Given the description of an element on the screen output the (x, y) to click on. 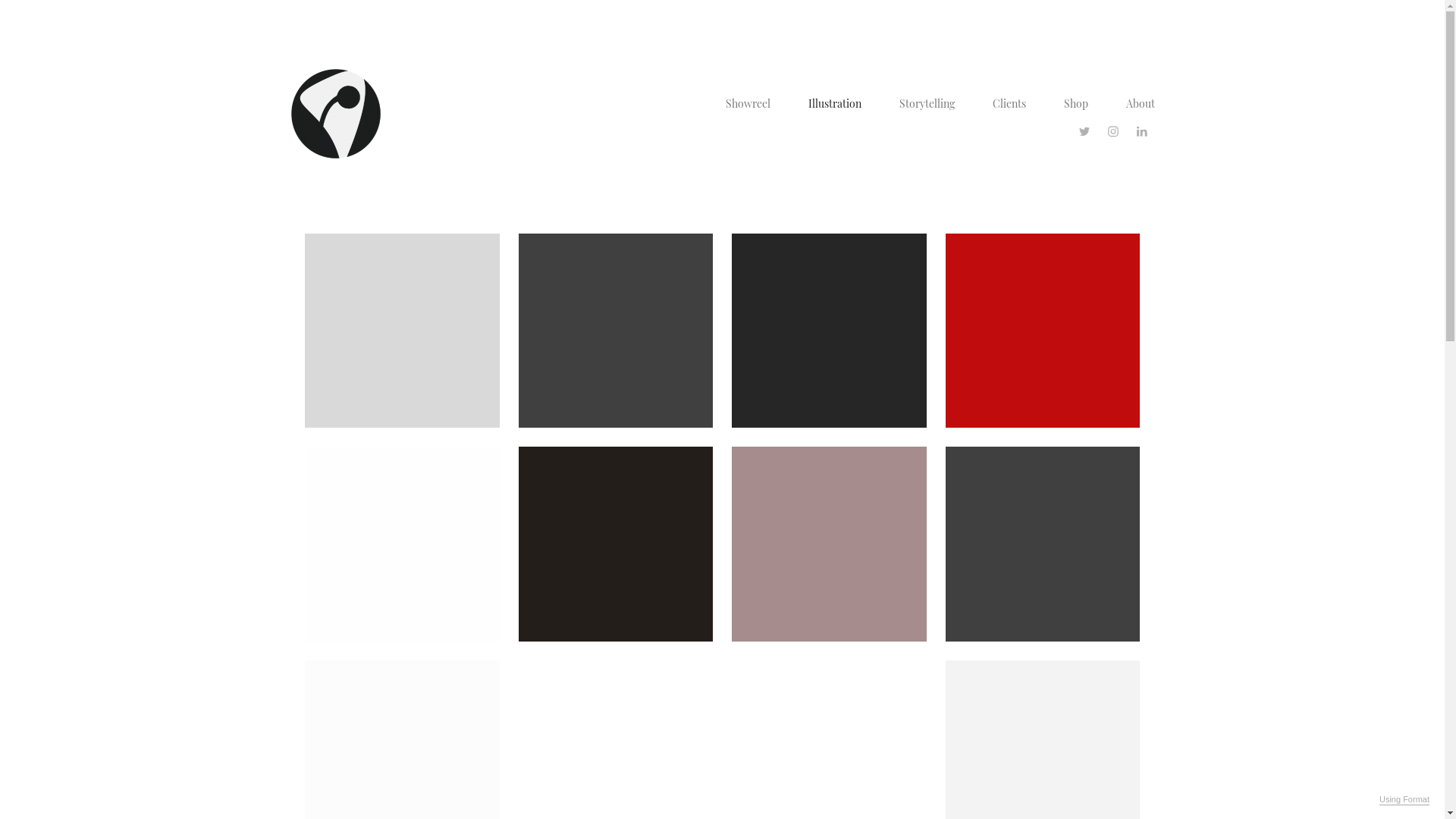
Illustration Element type: text (834, 103)
Storytelling Element type: text (926, 103)
Shop Element type: text (1075, 103)
About Element type: text (1139, 103)
Showreel Element type: text (746, 103)
Using Format Element type: text (1404, 799)
Clients Element type: text (1008, 103)
